Given the description of an element on the screen output the (x, y) to click on. 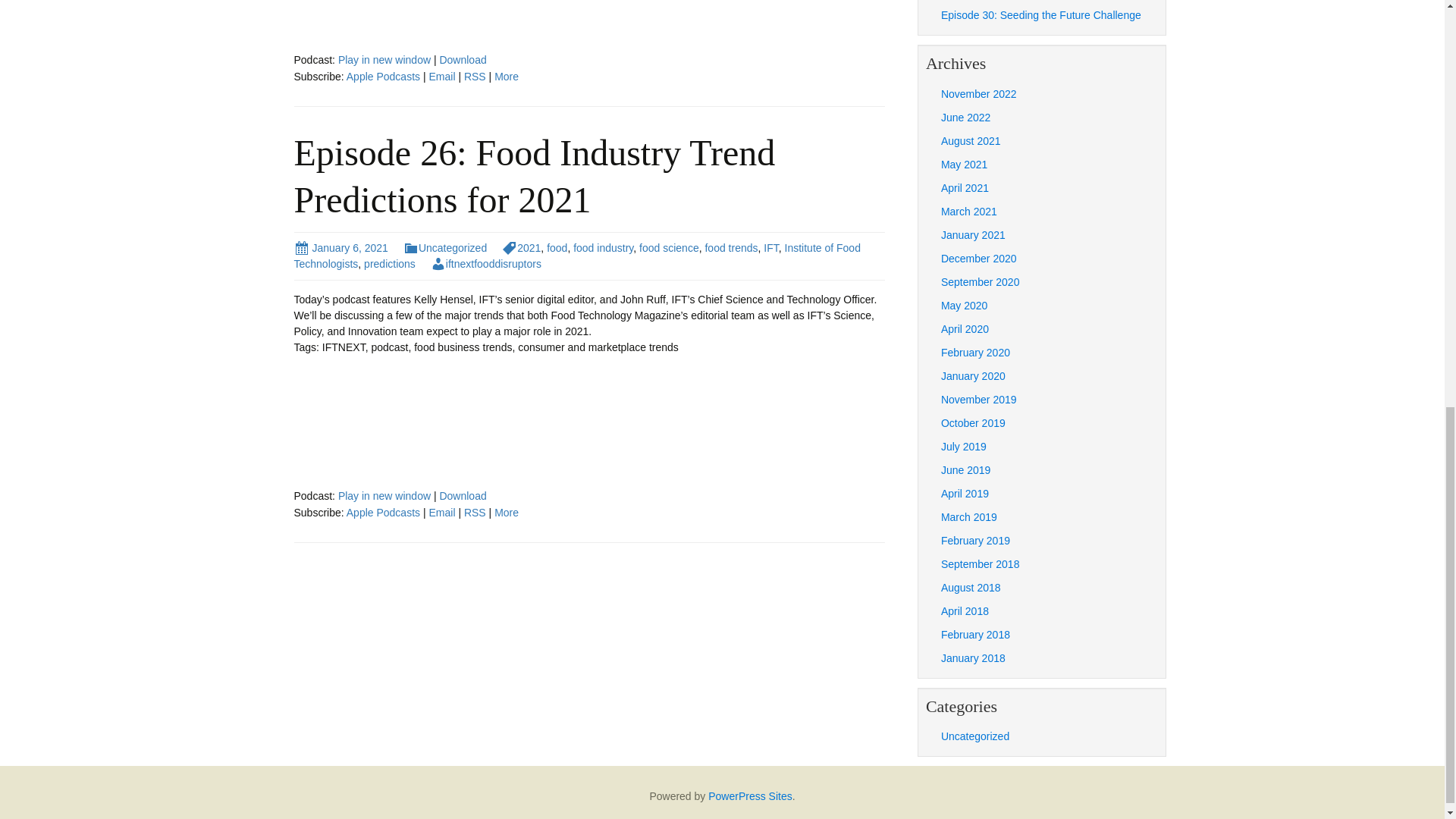
Email (441, 76)
iftnextfooddisruptors (485, 263)
food trends (730, 247)
Play in new window (383, 60)
Play in new window (383, 495)
Apple Podcasts (383, 76)
food science (668, 247)
Email (441, 512)
View all posts by iftnextfooddisruptors (485, 263)
Play in new window (383, 495)
